Given the description of an element on the screen output the (x, y) to click on. 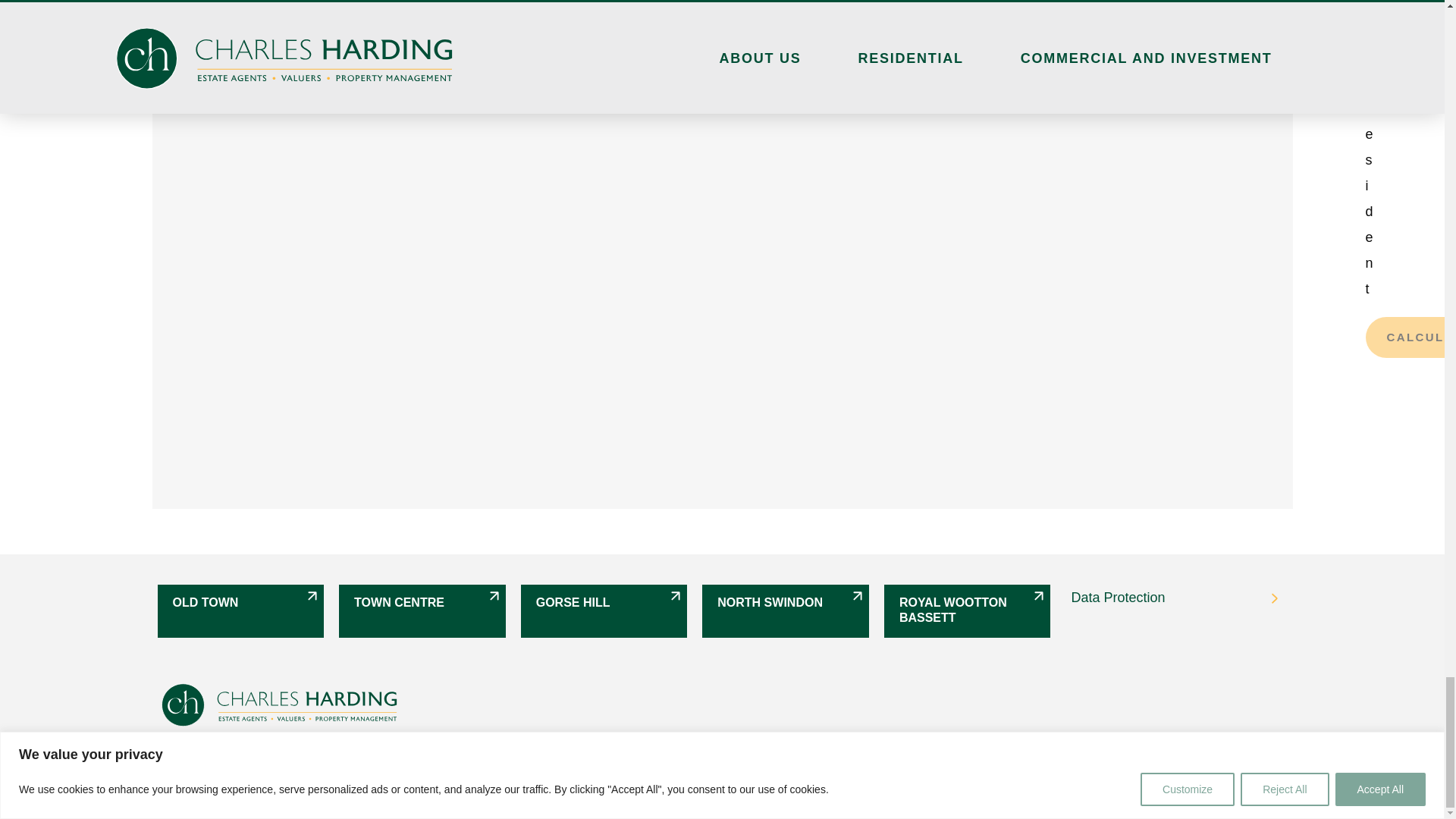
Website design, build and CMS by Lines (425, 749)
